Given the description of an element on the screen output the (x, y) to click on. 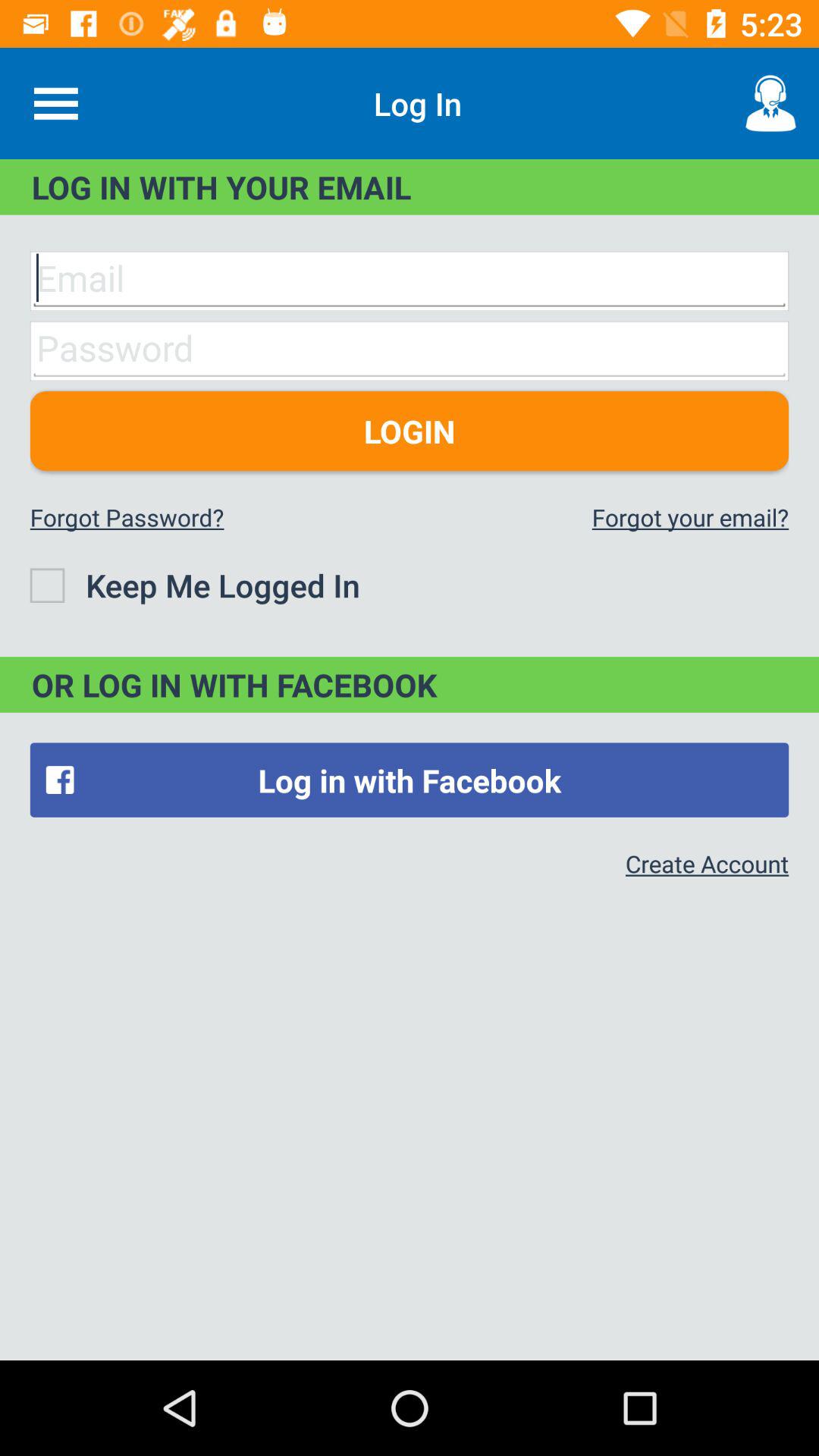
choose icon next to the log in icon (55, 103)
